Given the description of an element on the screen output the (x, y) to click on. 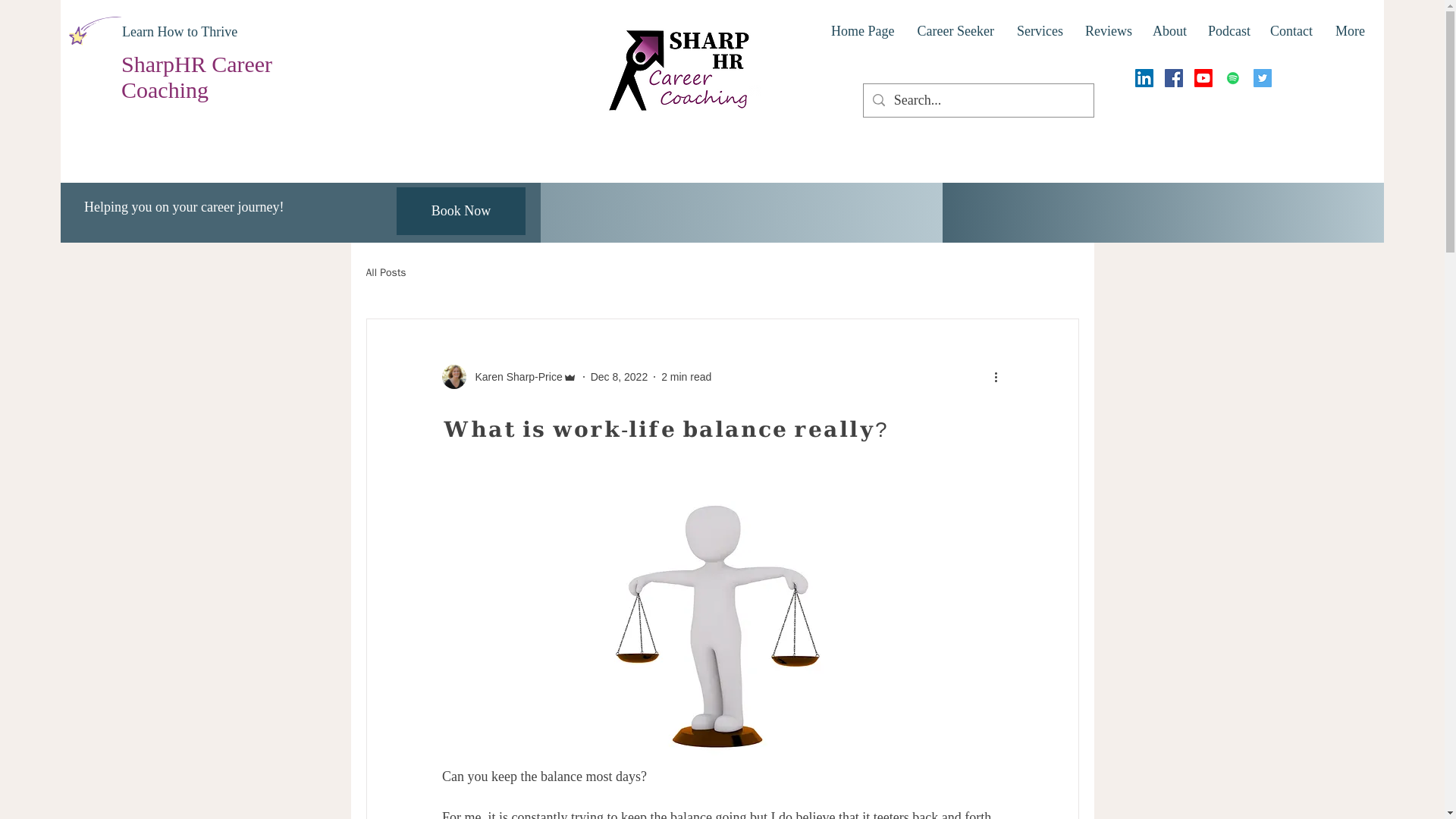
Services (1040, 31)
Book Now (460, 211)
SharpHR Career Coaching (196, 76)
Reviews (1107, 31)
Dec 8, 2022 (619, 376)
2 min read (686, 376)
Podcast (1227, 31)
Learn How to Thrive (179, 31)
Contact (1291, 31)
Home Page (861, 31)
